Given the description of an element on the screen output the (x, y) to click on. 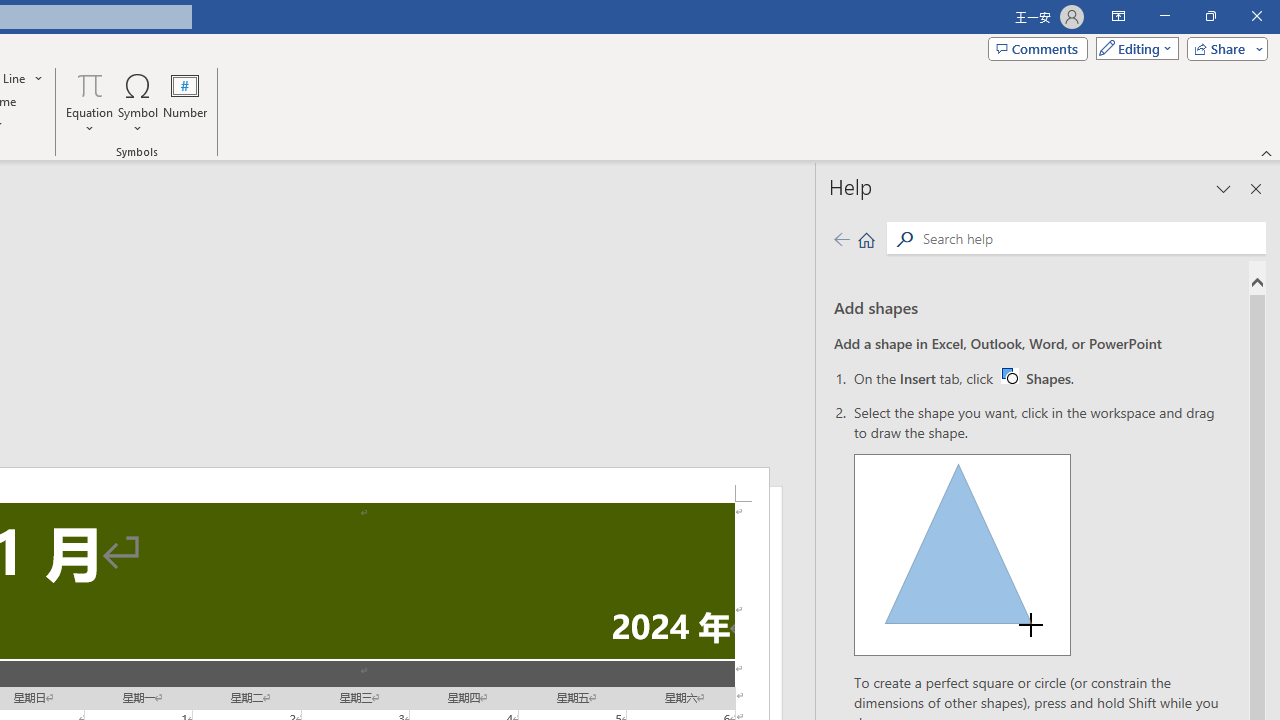
Number... (185, 102)
